Given the description of an element on the screen output the (x, y) to click on. 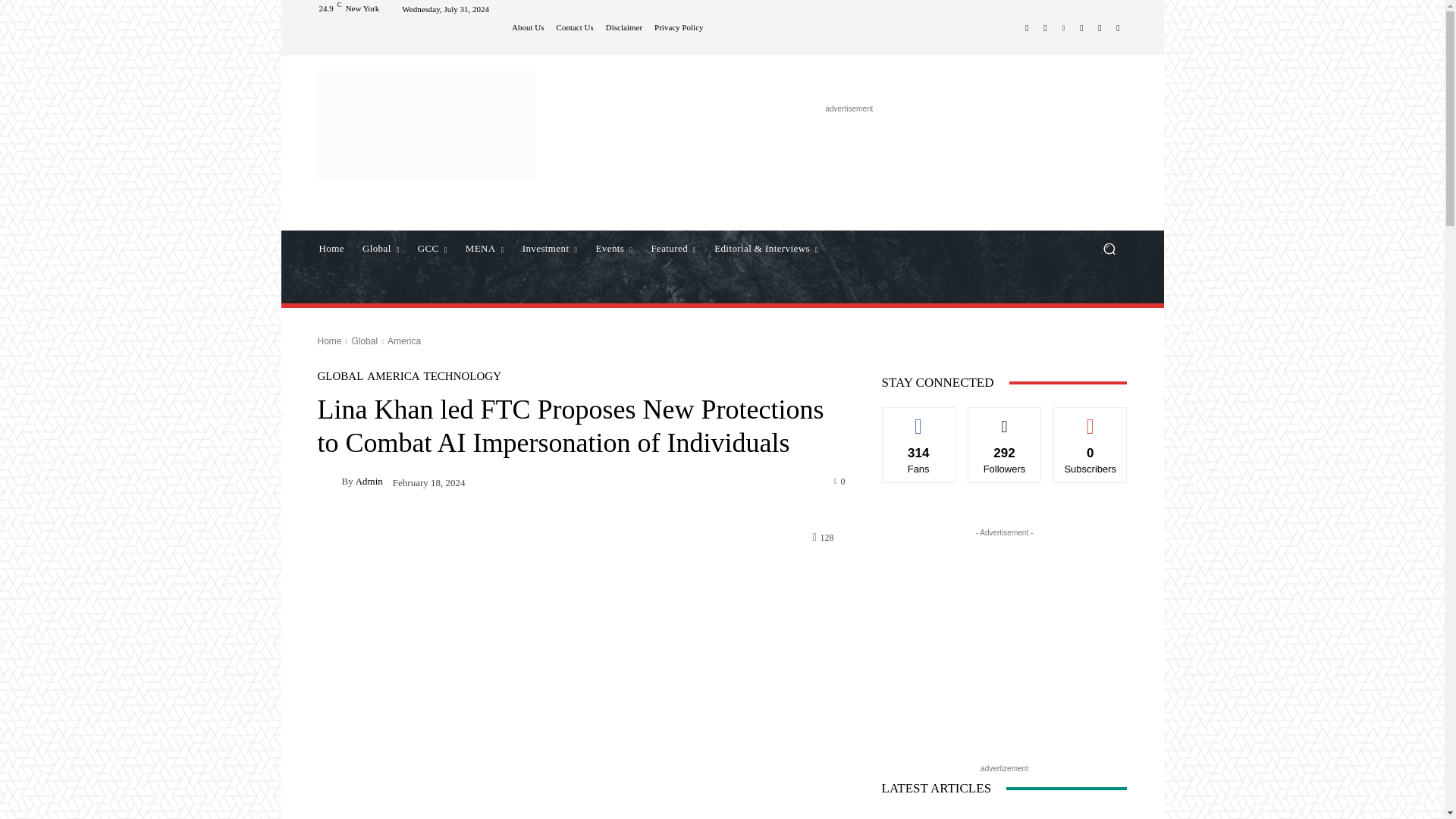
Mail (1080, 27)
Instagram (1044, 27)
Linkedin (1062, 27)
About Us (527, 27)
Facebook (1026, 27)
